Given the description of an element on the screen output the (x, y) to click on. 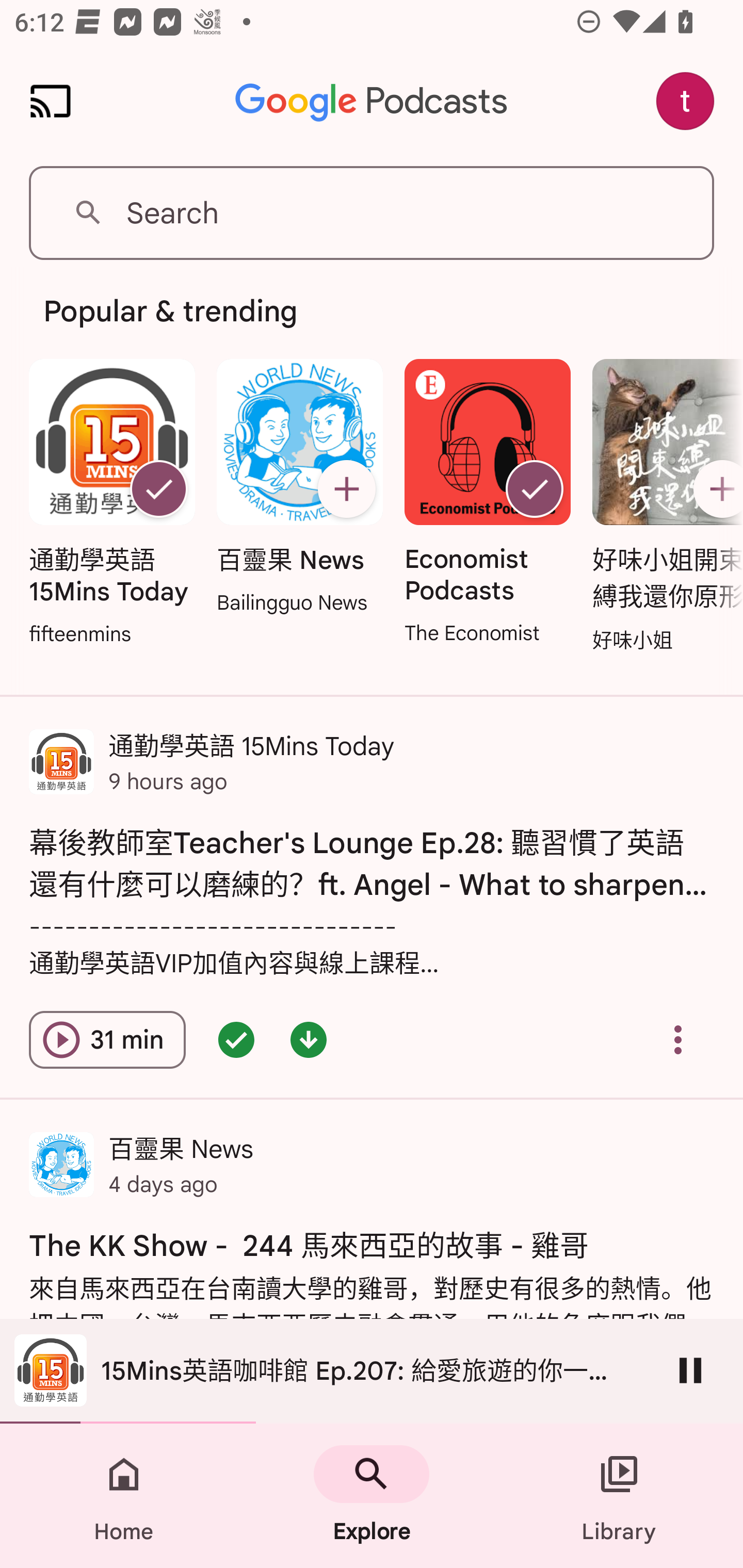
Cast. Disconnected (50, 101)
Search (371, 212)
百靈果 News Subscribe 百靈果 News Bailingguo News (299, 488)
好味小姐開束縛我還你原形 Subscribe 好味小姐開束縛我還你原形 好味小姐 (662, 507)
Unsubscribe (158, 489)
Subscribe (346, 489)
Unsubscribe (534, 489)
Subscribe (714, 489)
Episode queued - double tap for options (235, 1040)
Episode downloaded - double tap for options (308, 1040)
Overflow menu (677, 1040)
Pause (690, 1370)
Home (123, 1495)
Library (619, 1495)
